Given the description of an element on the screen output the (x, y) to click on. 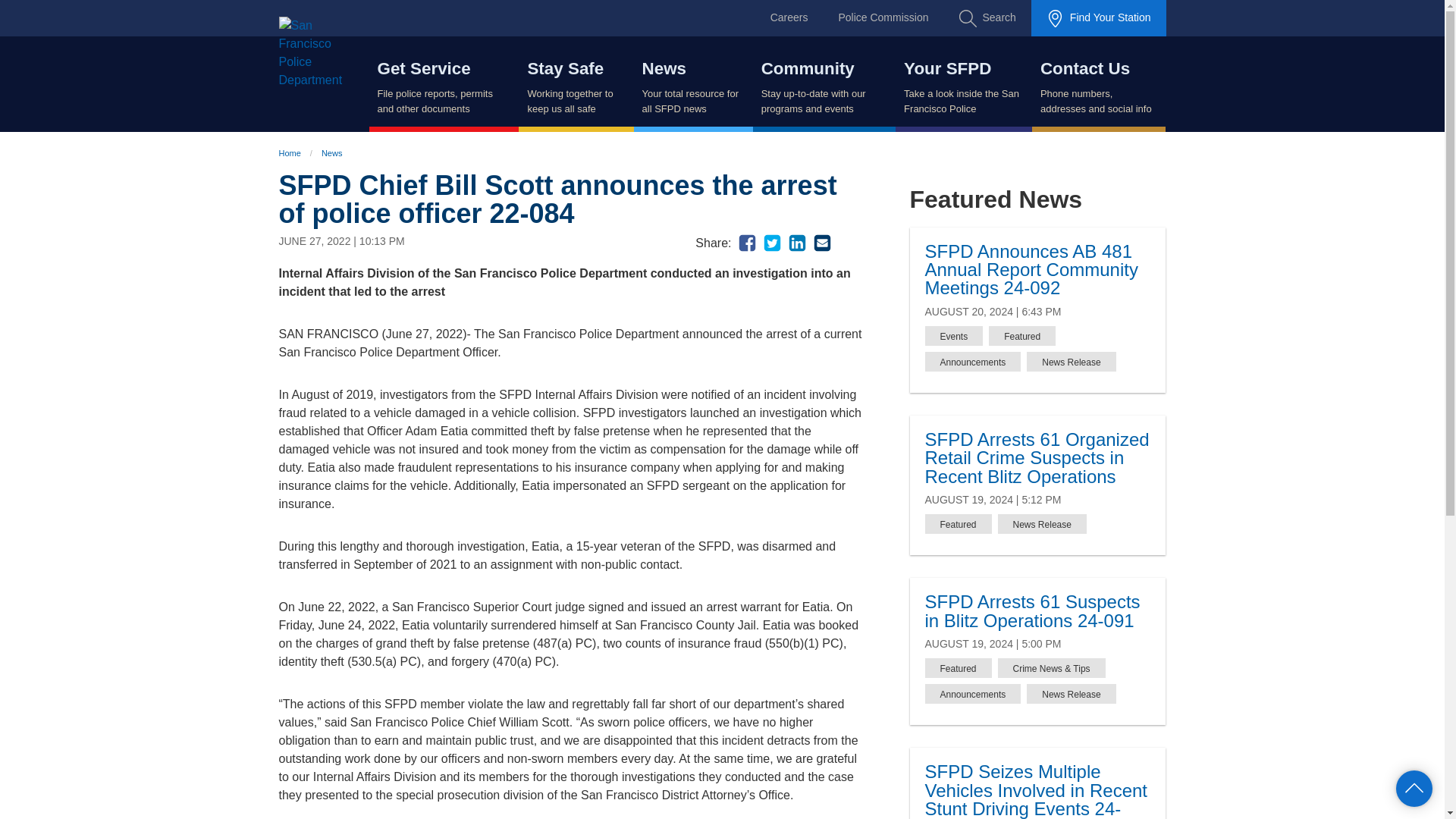
Get Service (443, 83)
Get Service (423, 68)
Find Your Station (1098, 18)
Search (986, 18)
Careers (789, 17)
Home (329, 52)
Police Commission (882, 17)
